Given the description of an element on the screen output the (x, y) to click on. 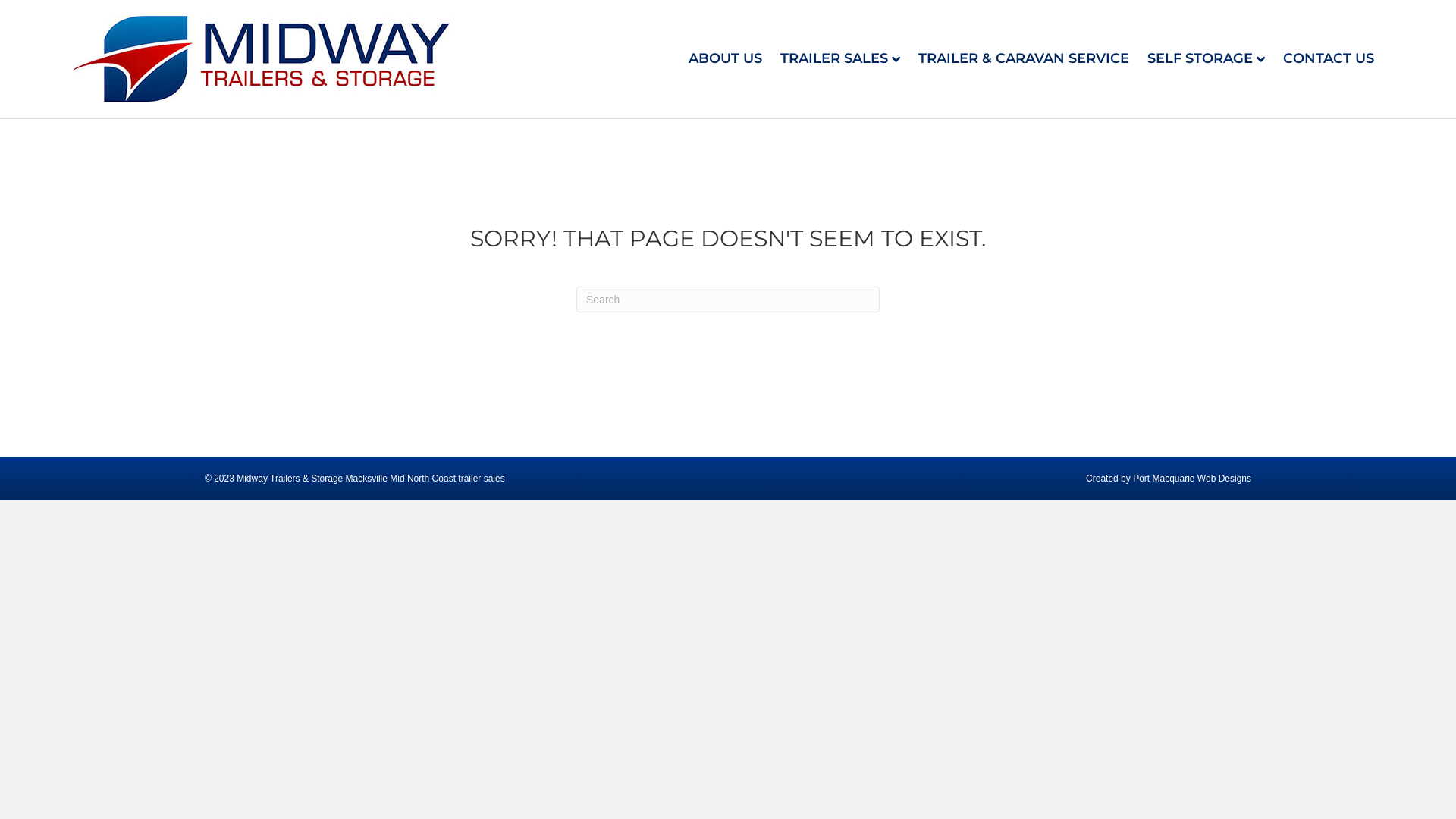
TRAILER & CARAVAN SERVICE Element type: text (1023, 58)
SELF STORAGE Element type: text (1206, 58)
Type and press Enter to search. Element type: hover (727, 299)
ABOUT US Element type: text (725, 58)
TRAILER SALES Element type: text (840, 58)
Port Macquarie Web Designs Element type: text (1191, 478)
CONTACT US Element type: text (1328, 58)
